Given the description of an element on the screen output the (x, y) to click on. 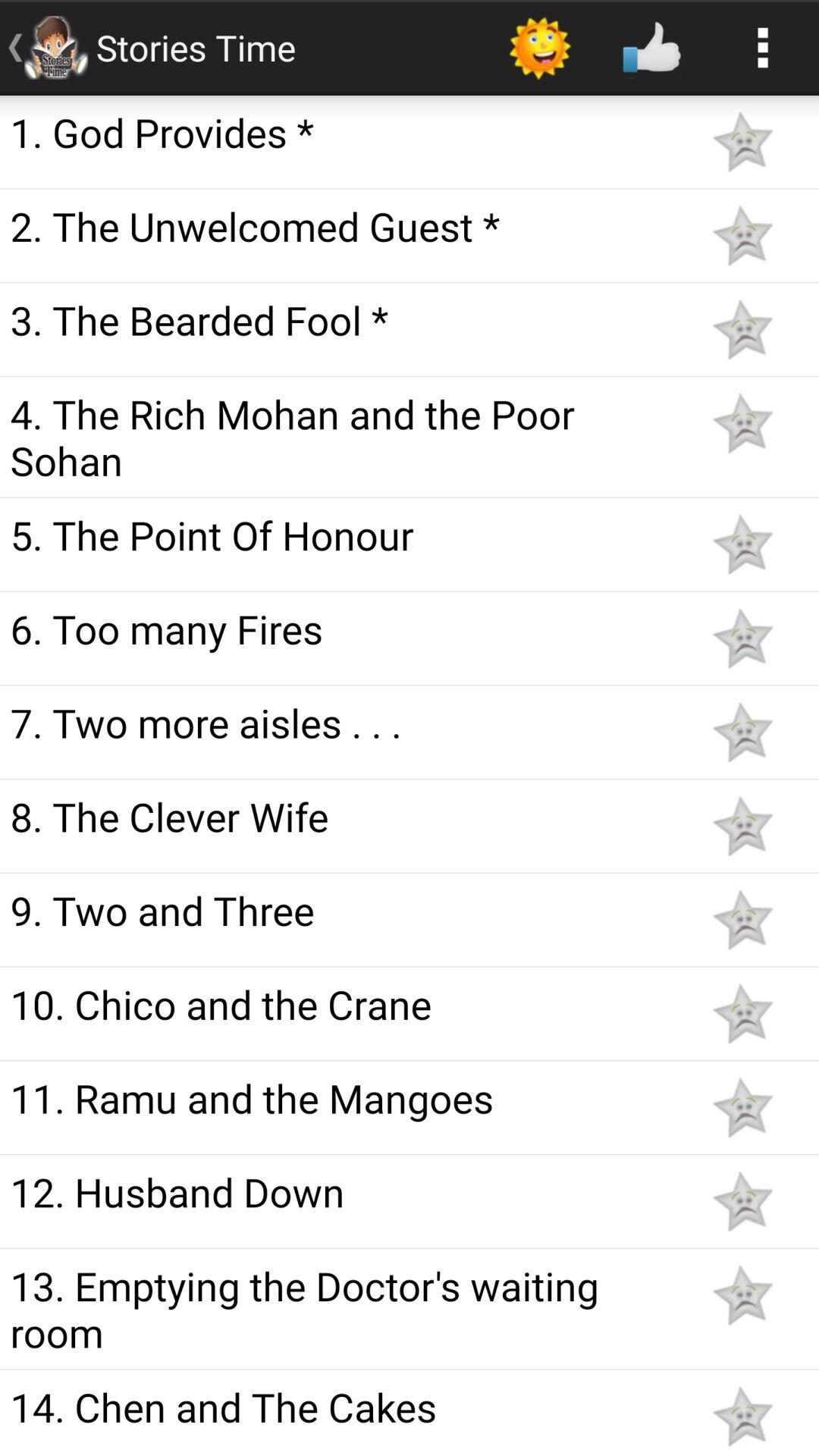
jump until 6 too many (343, 628)
